Given the description of an element on the screen output the (x, y) to click on. 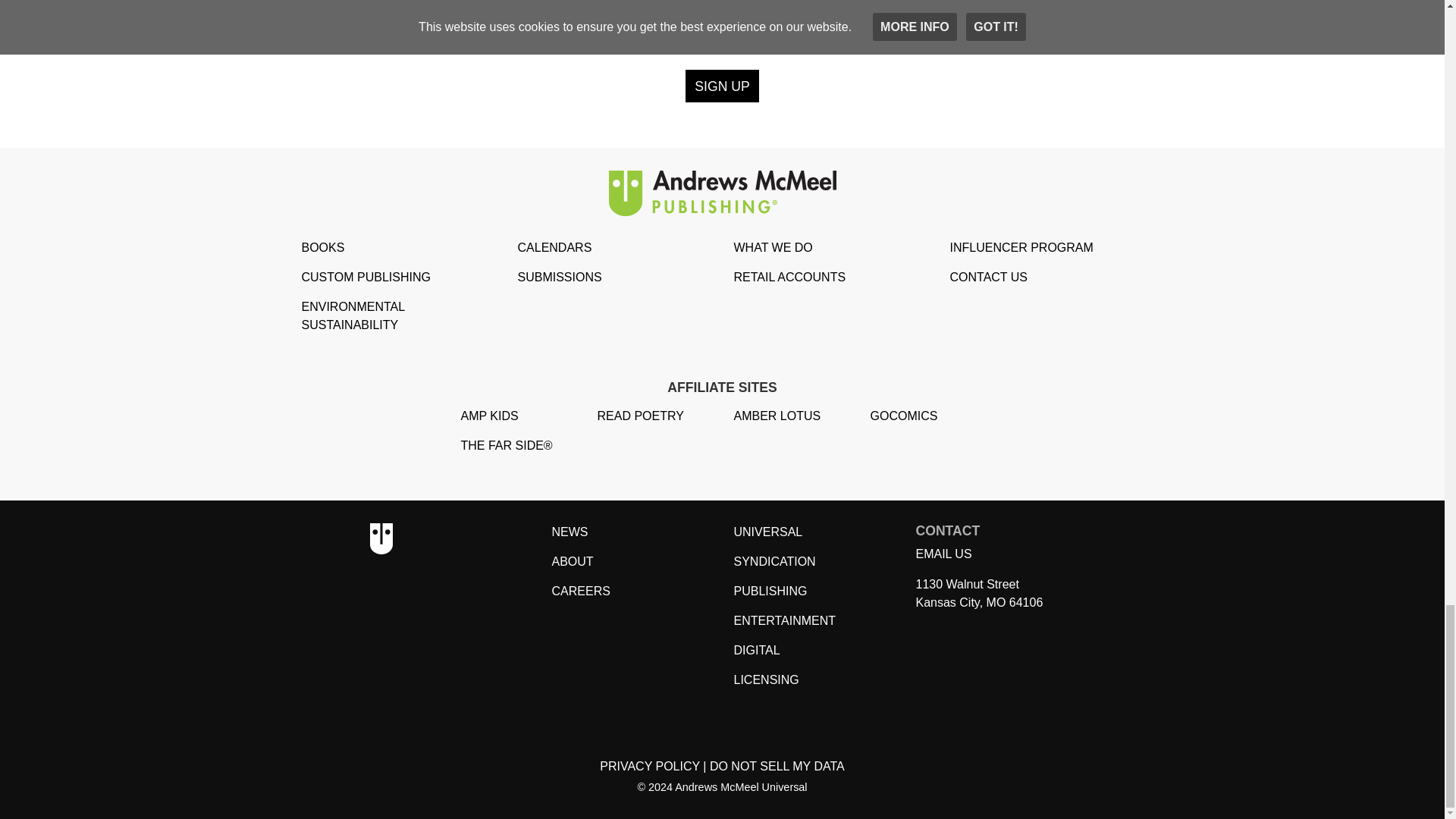
Privacy Policy (649, 766)
Privacy Policy (777, 766)
reCAPTCHA (721, 23)
SIGN UP (721, 85)
